Given the description of an element on the screen output the (x, y) to click on. 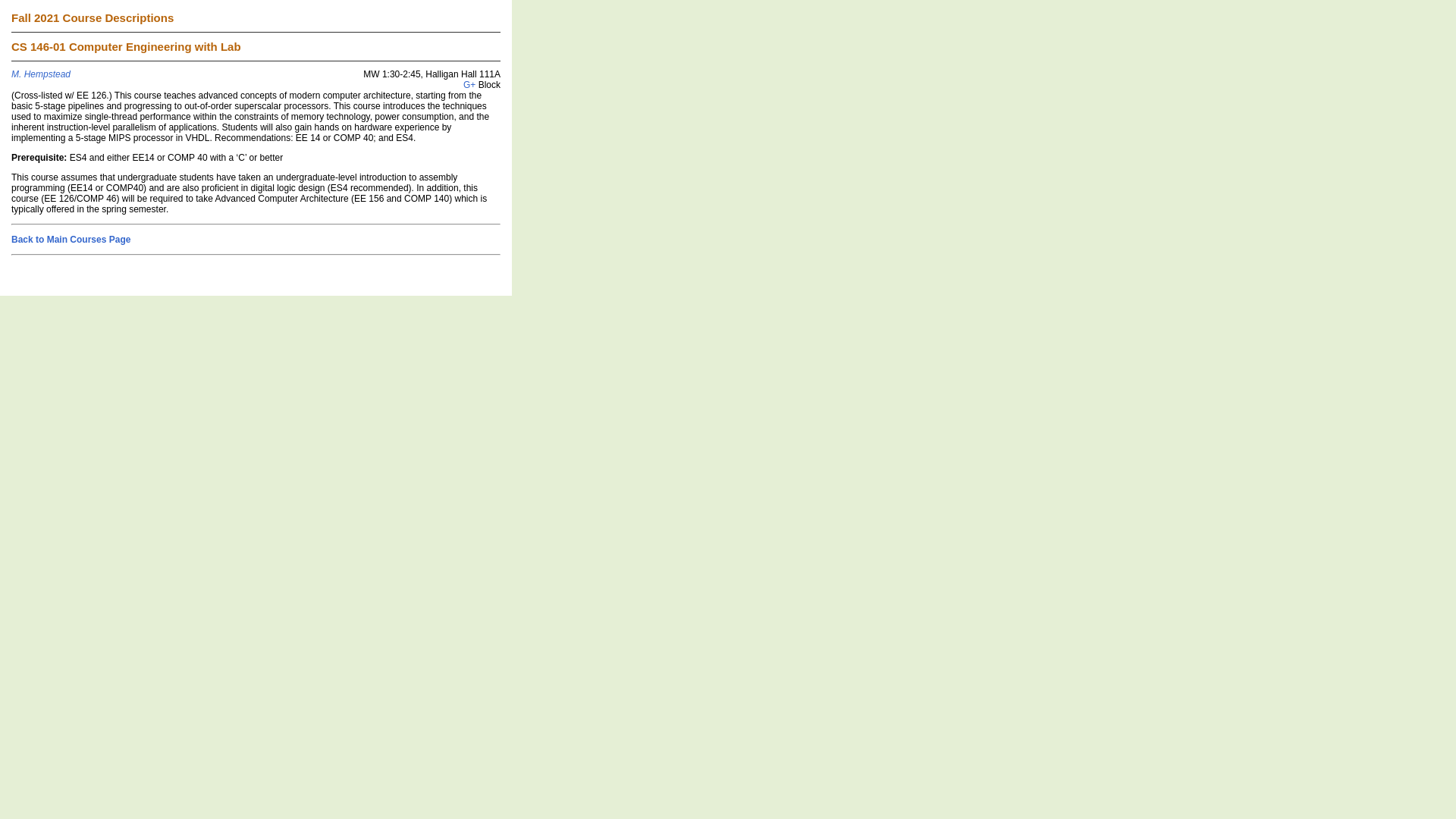
Back to Main Courses Page (71, 239)
M. Hempstead (40, 73)
